Given the description of an element on the screen output the (x, y) to click on. 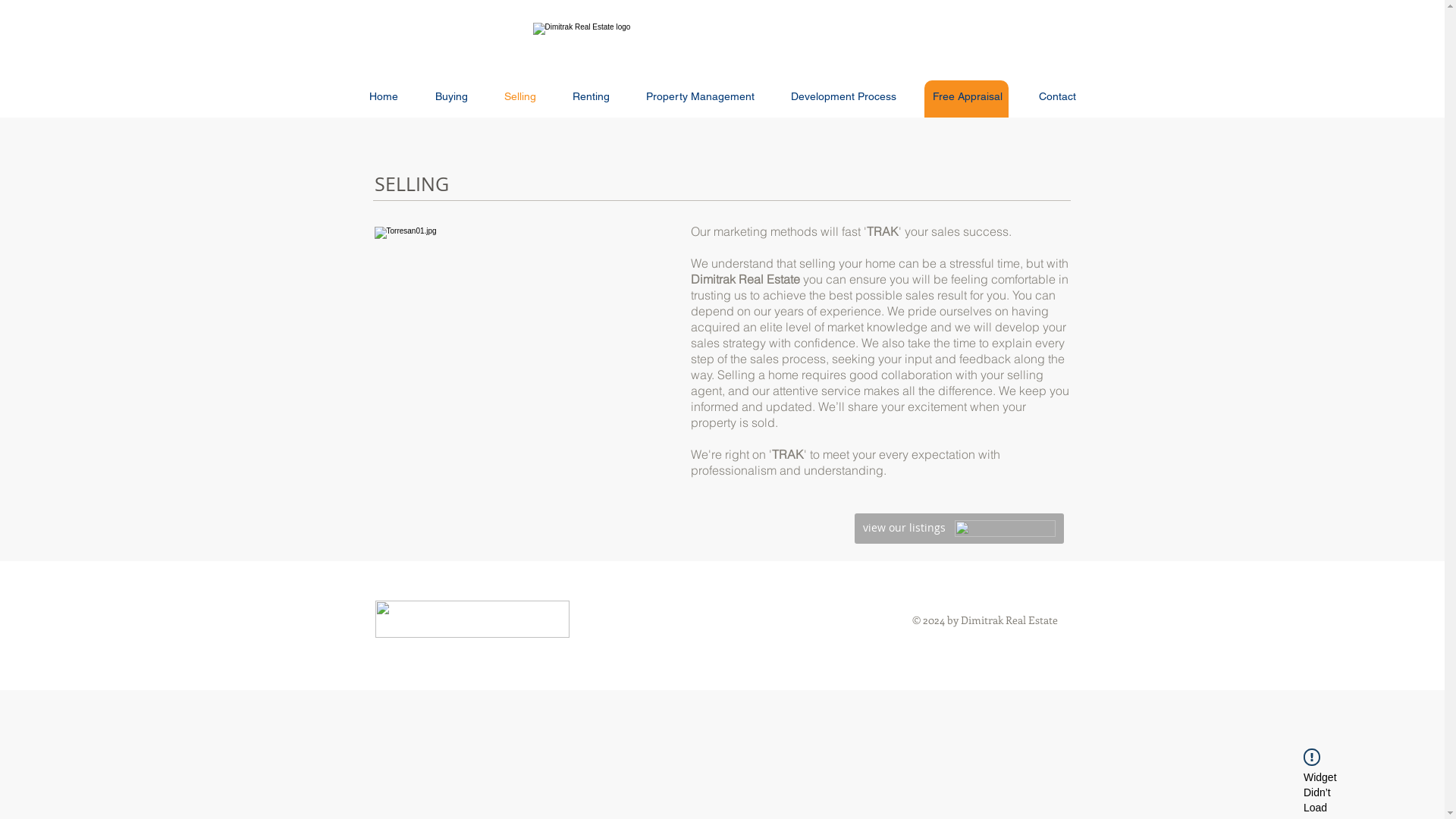
Development Process Element type: text (842, 96)
Property Management Element type: text (699, 96)
Buying Element type: text (451, 96)
53a Hayward Av (13 of 17).jpg Element type: hover (521, 324)
Selling Element type: text (519, 96)
dimitrak header.png Element type: hover (722, 39)
Free Appraisal Element type: text (967, 96)
Renting Element type: text (590, 96)
Home Element type: text (383, 96)
Contact Element type: text (1057, 96)
